Given the description of an element on the screen output the (x, y) to click on. 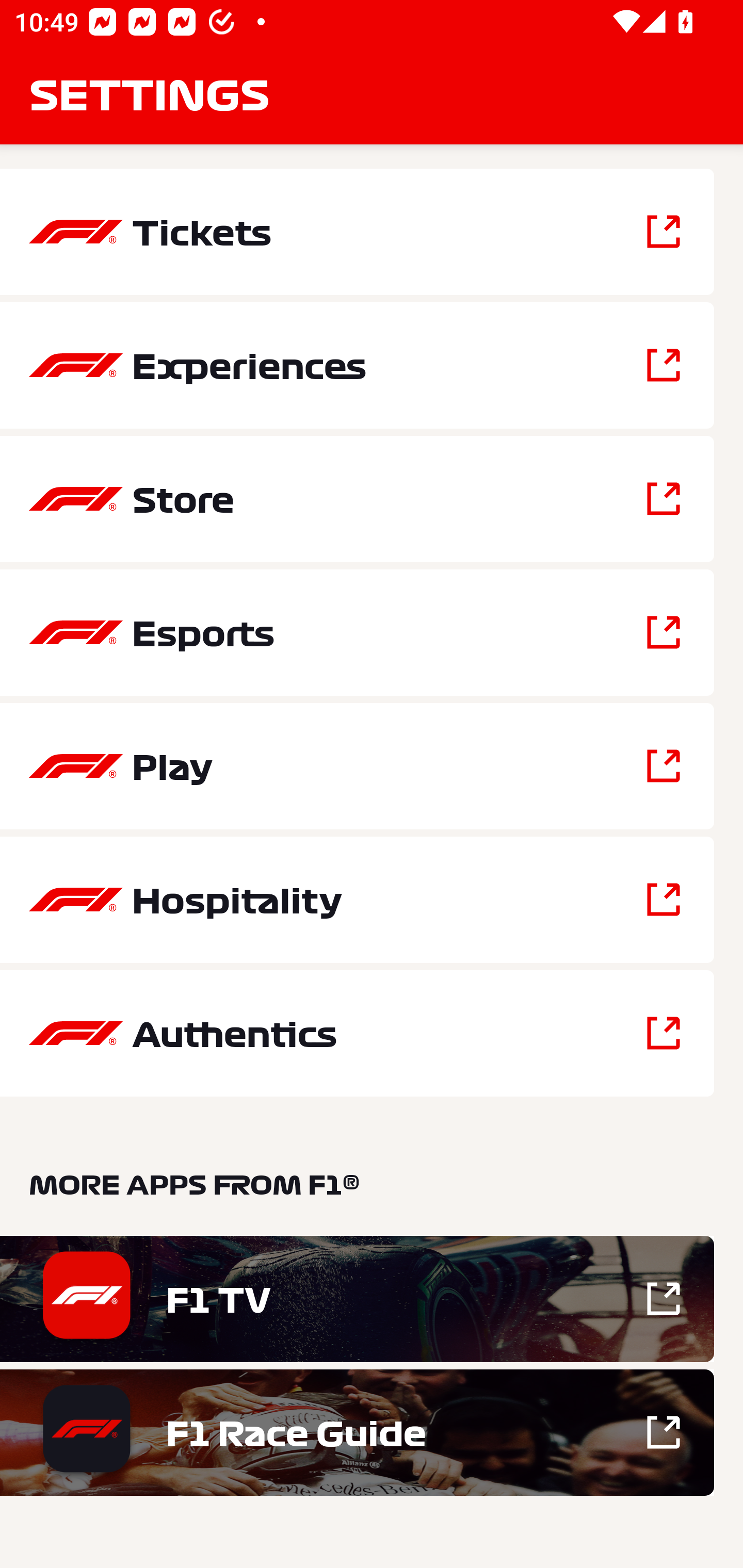
Tickets (357, 231)
Experiences (357, 365)
Store (357, 498)
Esports (357, 632)
Play (357, 765)
Hospitality (357, 899)
Authentics (357, 1033)
F1 TV (357, 1298)
F1 Race Guide (357, 1431)
